Given the description of an element on the screen output the (x, y) to click on. 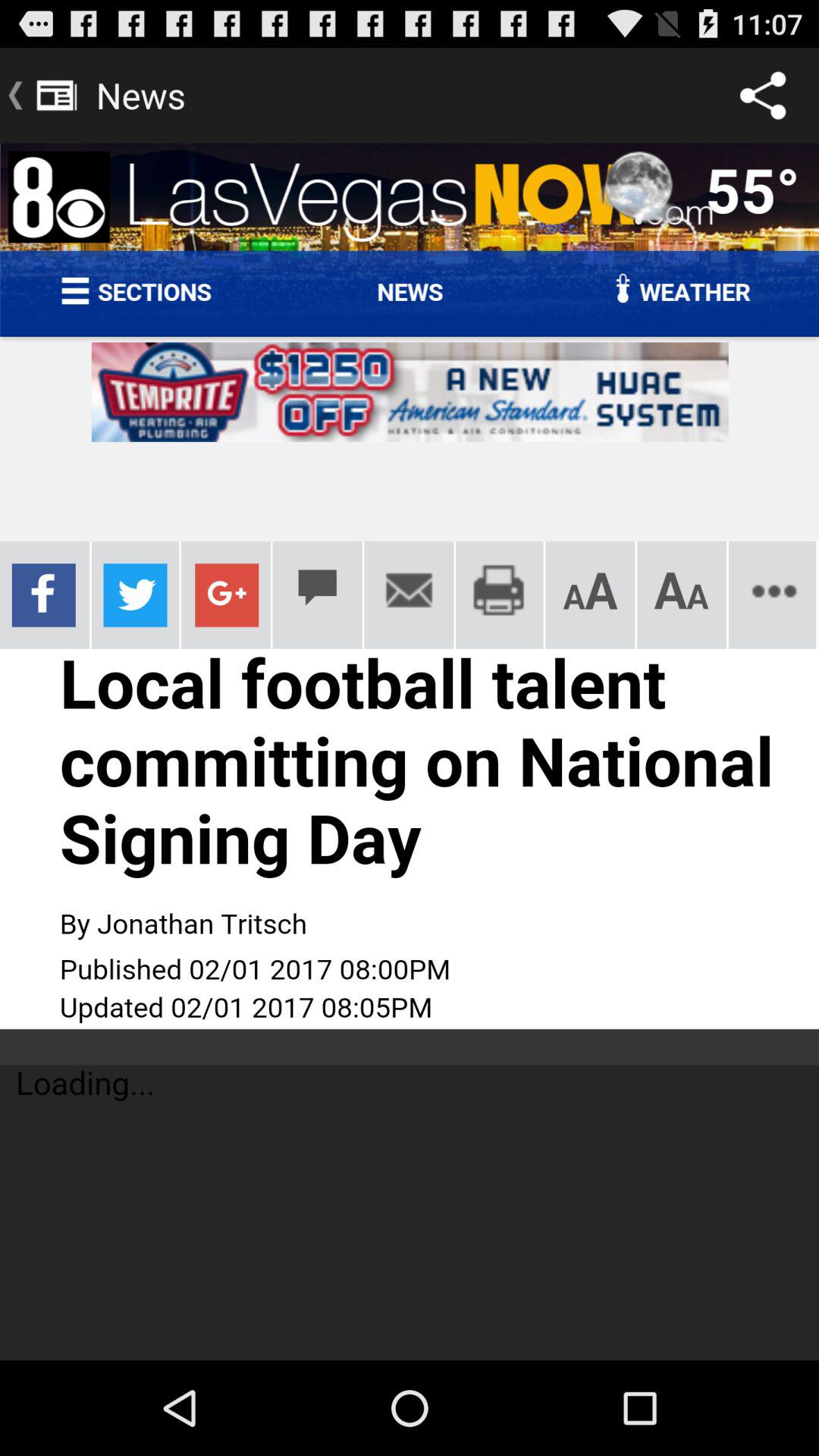
screen dislay (409, 751)
